Given the description of an element on the screen output the (x, y) to click on. 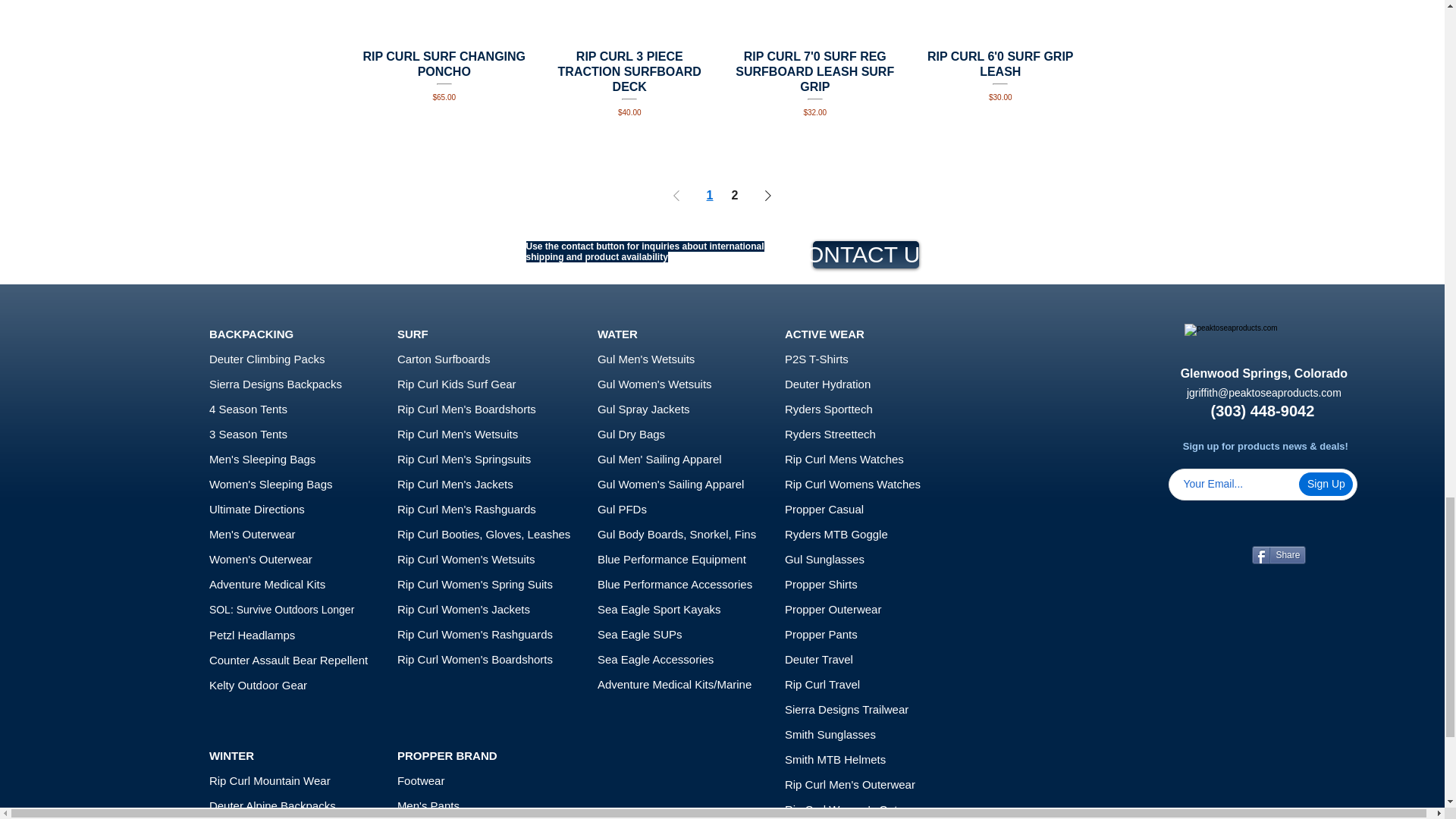
Share (1279, 555)
